Given the description of an element on the screen output the (x, y) to click on. 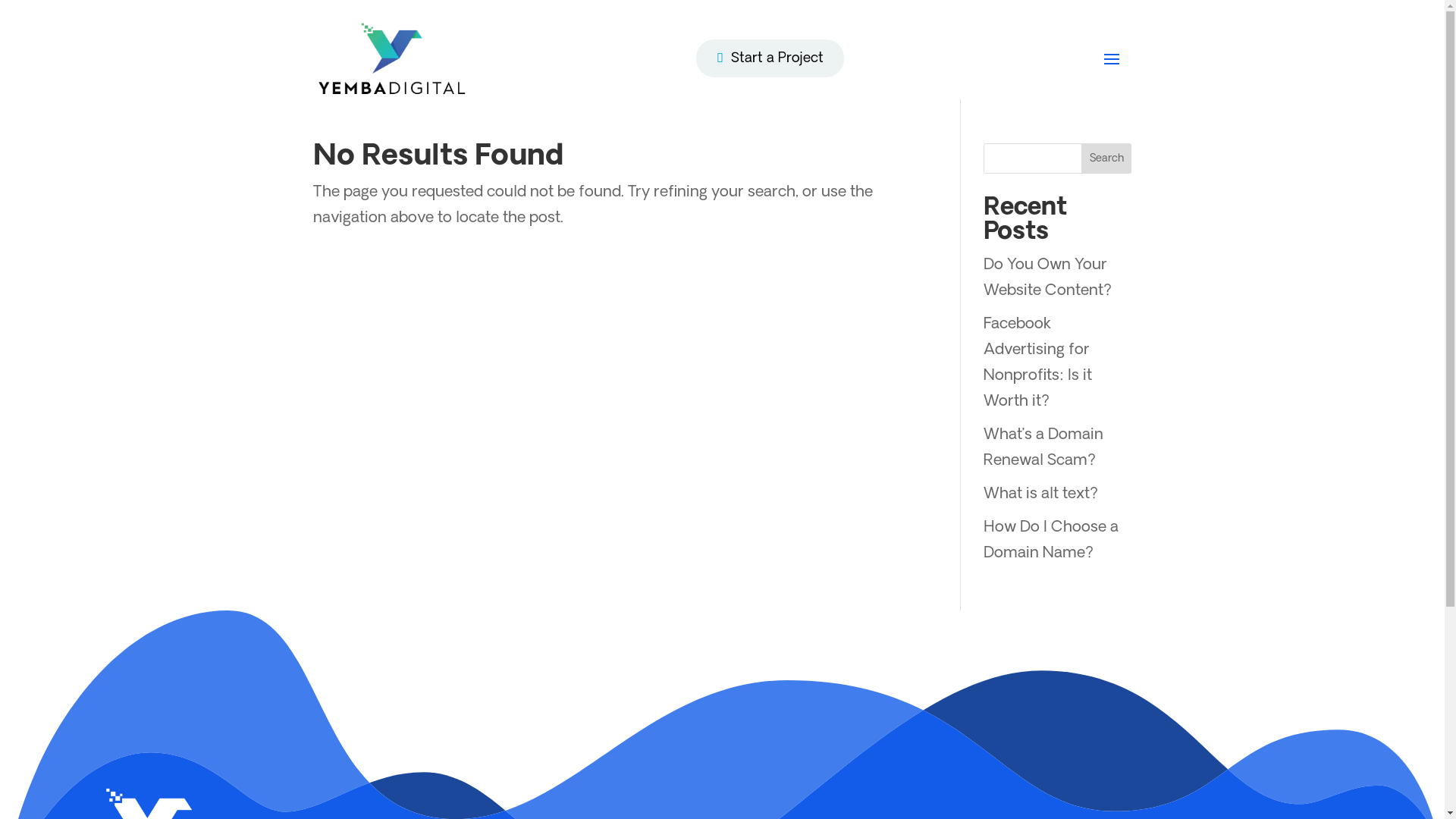
Do You Own Your Website Content? Element type: text (1047, 277)
Facebook Advertising for Nonprofits: Is it Worth it? Element type: text (1037, 362)
Search Element type: text (1106, 158)
How Do I Choose a Domain Name? Element type: text (1050, 540)
What is alt text? Element type: text (1040, 494)
yemba menu logo Element type: hover (391, 58)
Start a Project Element type: text (770, 58)
